Given the description of an element on the screen output the (x, y) to click on. 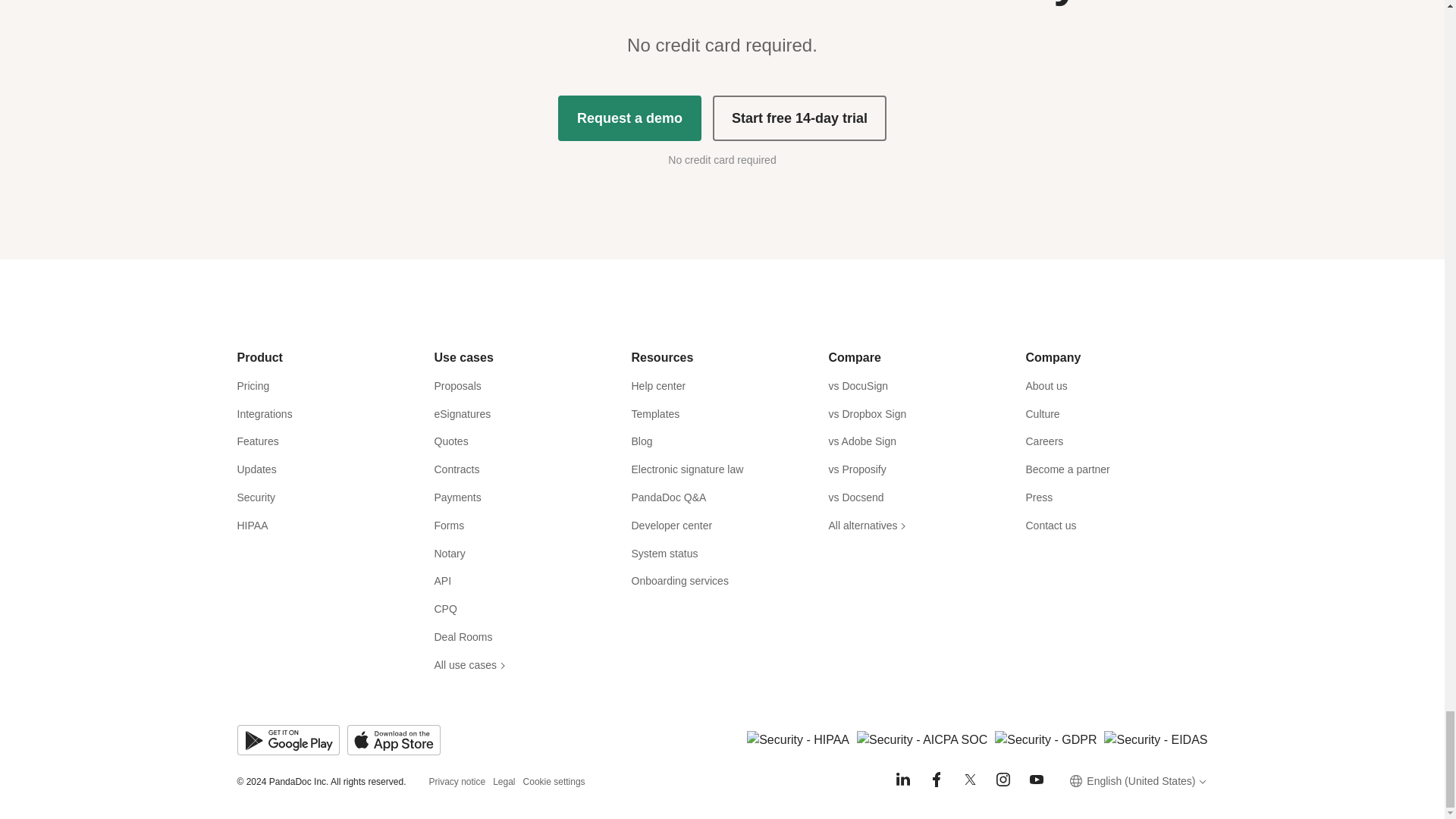
Facebook (935, 779)
LinkedIn (902, 779)
Twitter (969, 779)
Youtube (1036, 779)
Instagram (1002, 779)
